Given the description of an element on the screen output the (x, y) to click on. 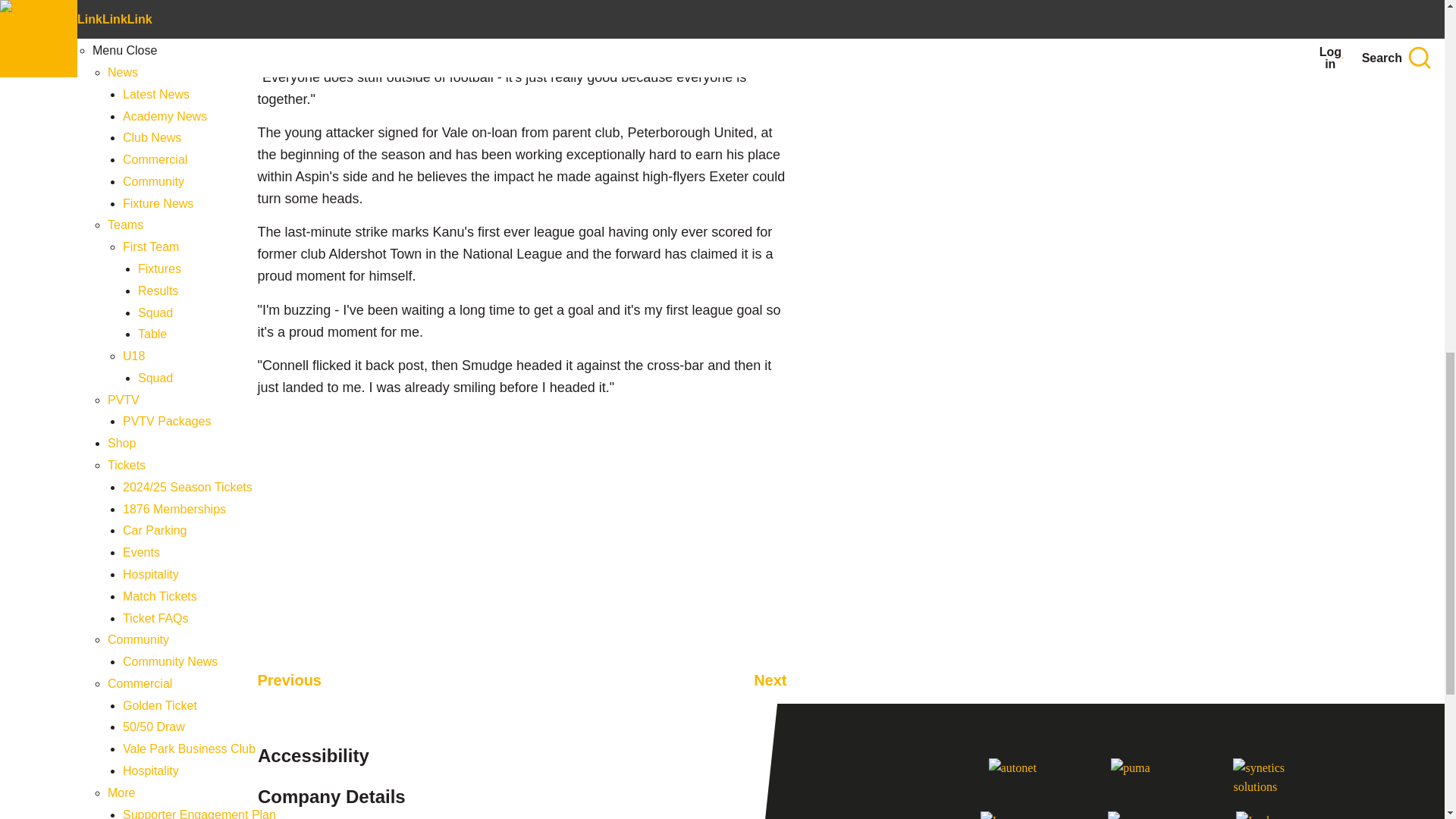
Staffordshire Uni (1141, 815)
Synectics (1263, 775)
Ironmarket (1013, 815)
Autonet (1018, 775)
Leek Building Society (1269, 815)
Puma (1141, 775)
